Given the description of an element on the screen output the (x, y) to click on. 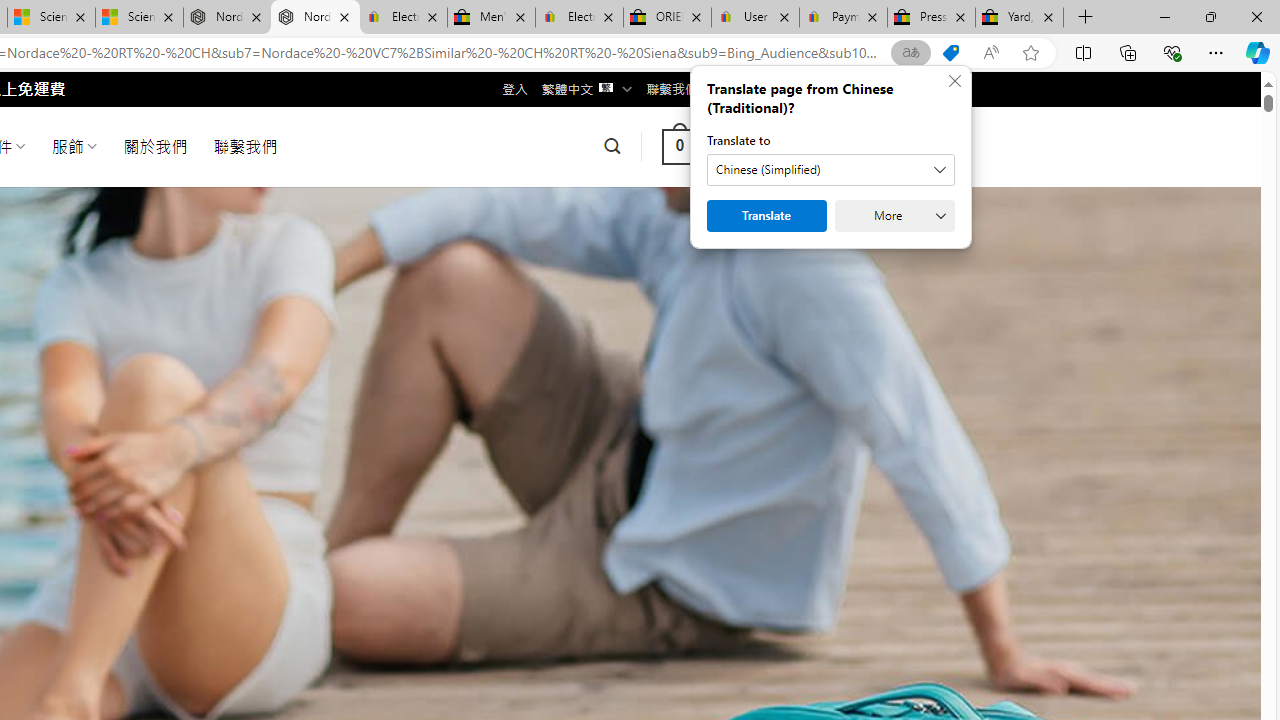
Translate to (830, 169)
  0   (679, 146)
